Given the description of an element on the screen output the (x, y) to click on. 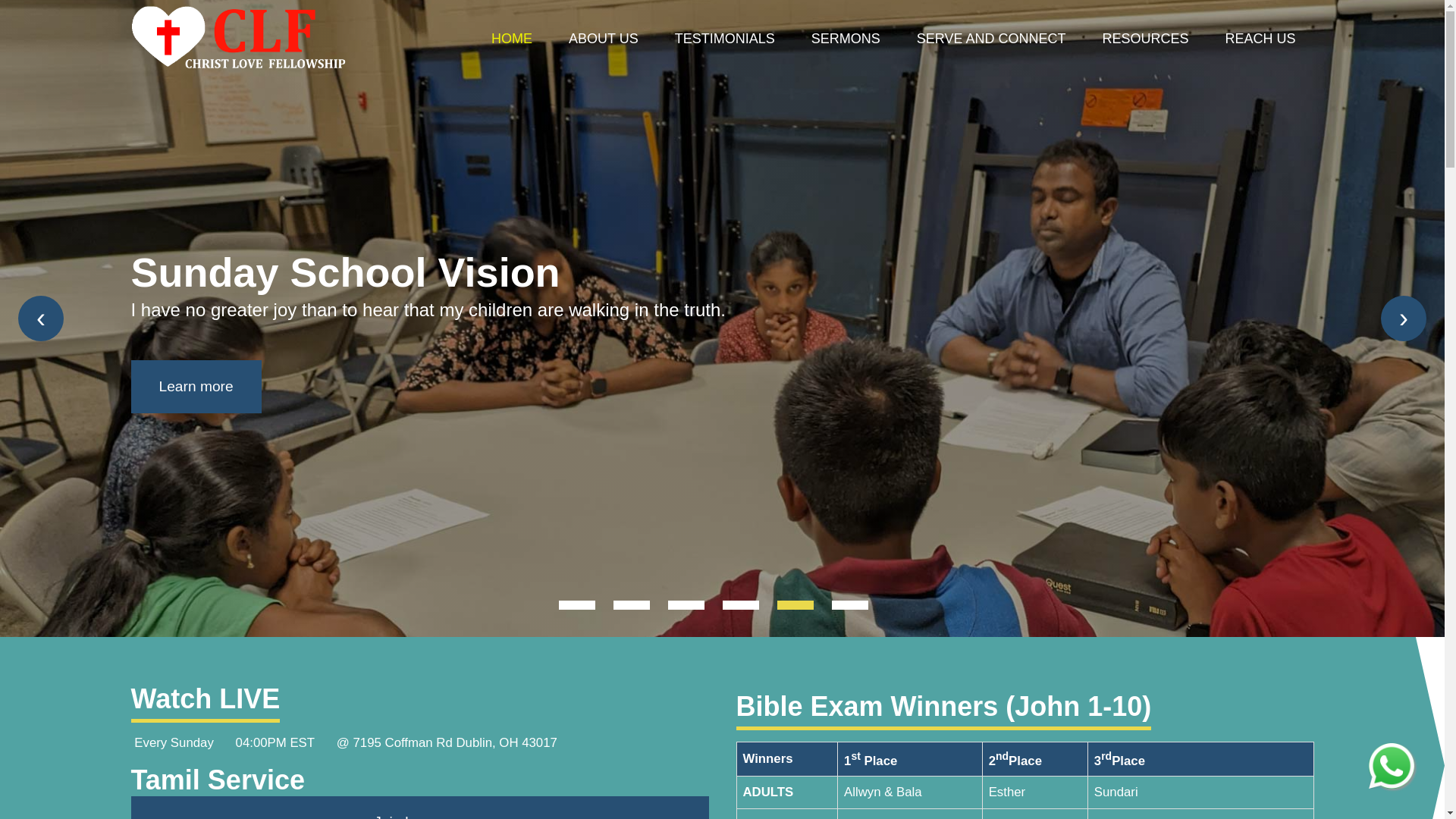
Learn more (195, 386)
SERVE AND CONNECT (991, 38)
REACH US (1260, 38)
HOME (511, 38)
TESTIMONIALS (724, 38)
ABOUT US (603, 38)
SERMONS (845, 38)
RESOURCES (1145, 38)
